Given the description of an element on the screen output the (x, y) to click on. 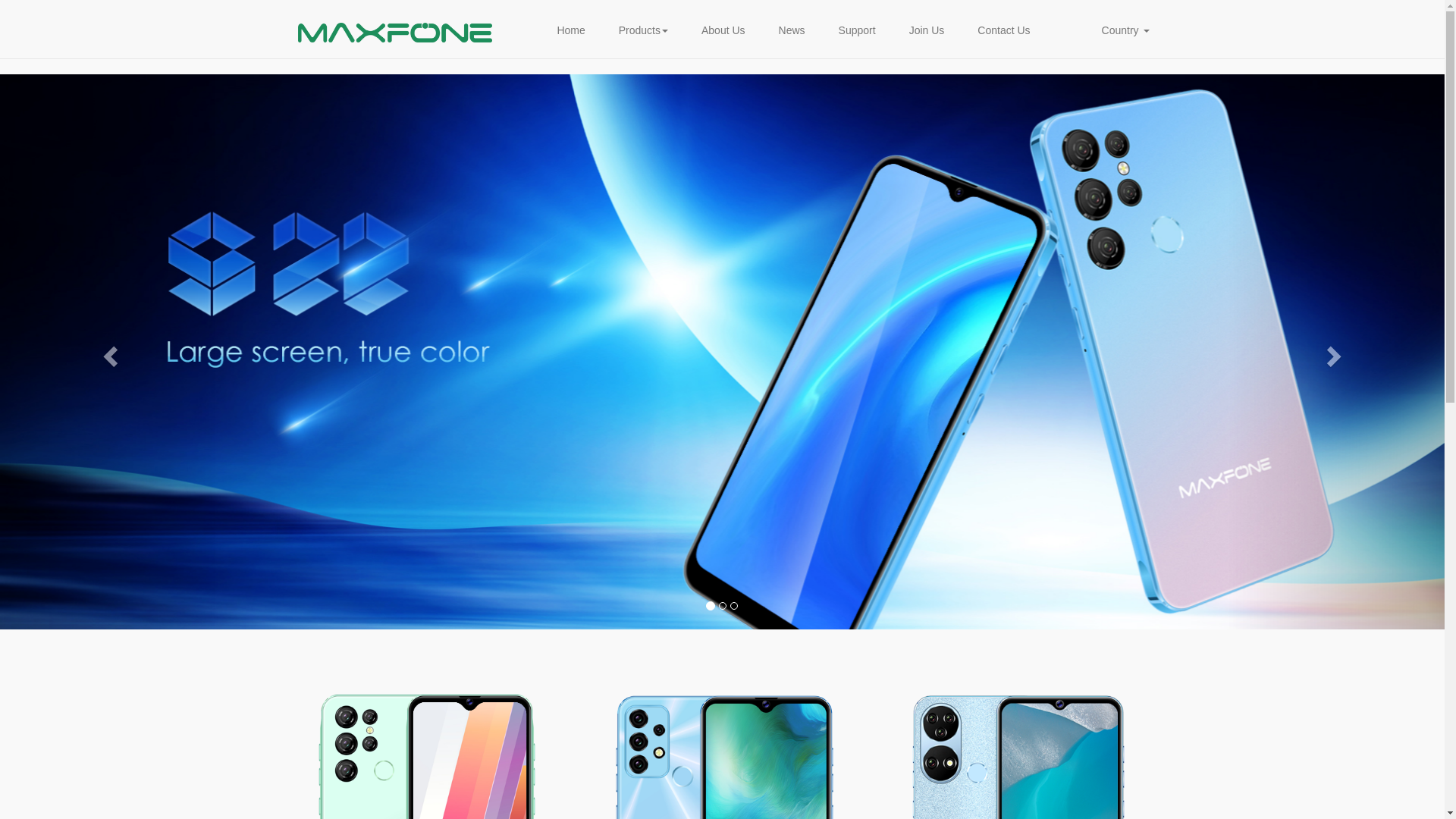
Country Element type: text (1125, 30)
Previous Element type: text (108, 351)
Join Us Element type: text (926, 30)
Contact Us Element type: text (1003, 30)
News Element type: text (792, 30)
Support Element type: text (857, 30)
maxfone Element type: text (394, 33)
Next Element type: text (1335, 351)
About Us Element type: text (723, 30)
Home Element type: text (570, 30)
Products Element type: text (643, 30)
